Given the description of an element on the screen output the (x, y) to click on. 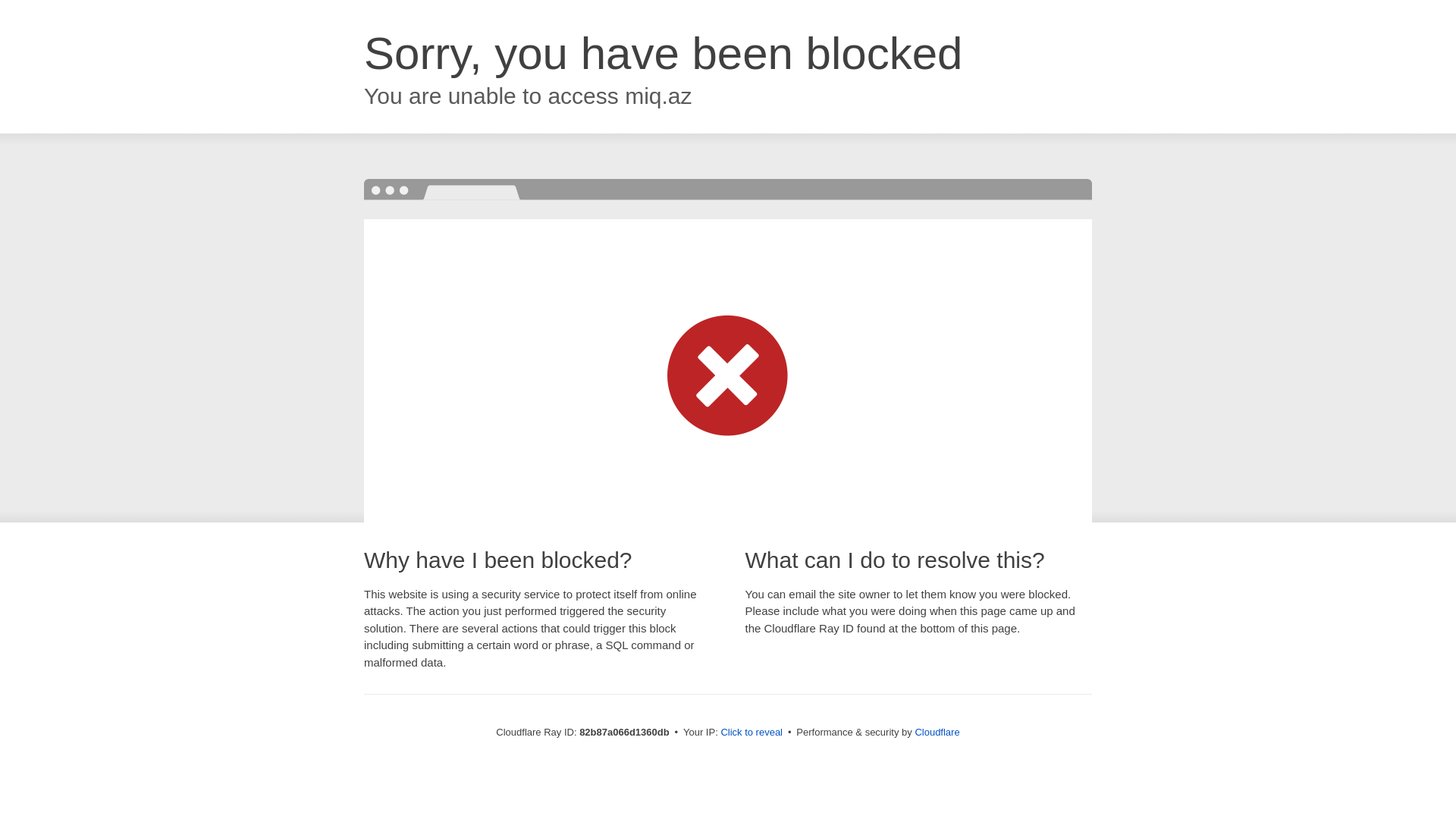
Cloudflare Element type: text (936, 731)
Click to reveal Element type: text (751, 732)
